Given the description of an element on the screen output the (x, y) to click on. 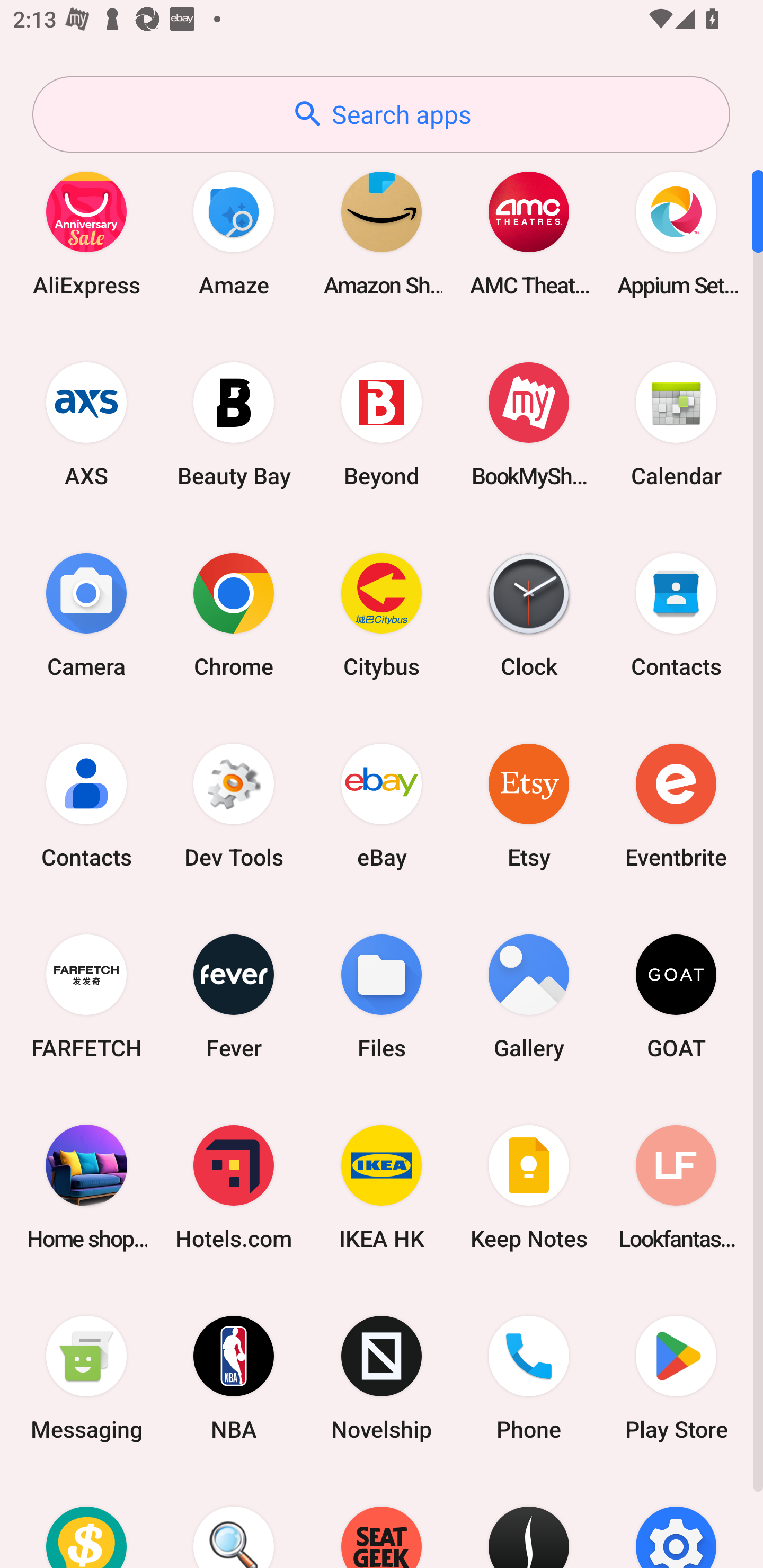
  Search apps (381, 114)
AliExpress (86, 233)
Amaze (233, 233)
Amazon Shopping (381, 233)
AMC Theatres (528, 233)
Appium Settings (676, 233)
AXS (86, 424)
Beauty Bay (233, 424)
Beyond (381, 424)
BookMyShow (528, 424)
Calendar (676, 424)
Camera (86, 614)
Chrome (233, 614)
Citybus (381, 614)
Clock (528, 614)
Contacts (676, 614)
Contacts (86, 805)
Dev Tools (233, 805)
eBay (381, 805)
Etsy (528, 805)
Eventbrite (676, 805)
FARFETCH (86, 996)
Fever (233, 996)
Files (381, 996)
Gallery (528, 996)
GOAT (676, 996)
Home shopping (86, 1186)
Hotels.com (233, 1186)
IKEA HK (381, 1186)
Keep Notes (528, 1186)
Lookfantastic (676, 1186)
Messaging (86, 1377)
NBA (233, 1377)
Novelship (381, 1377)
Phone (528, 1377)
Play Store (676, 1377)
